Given the description of an element on the screen output the (x, y) to click on. 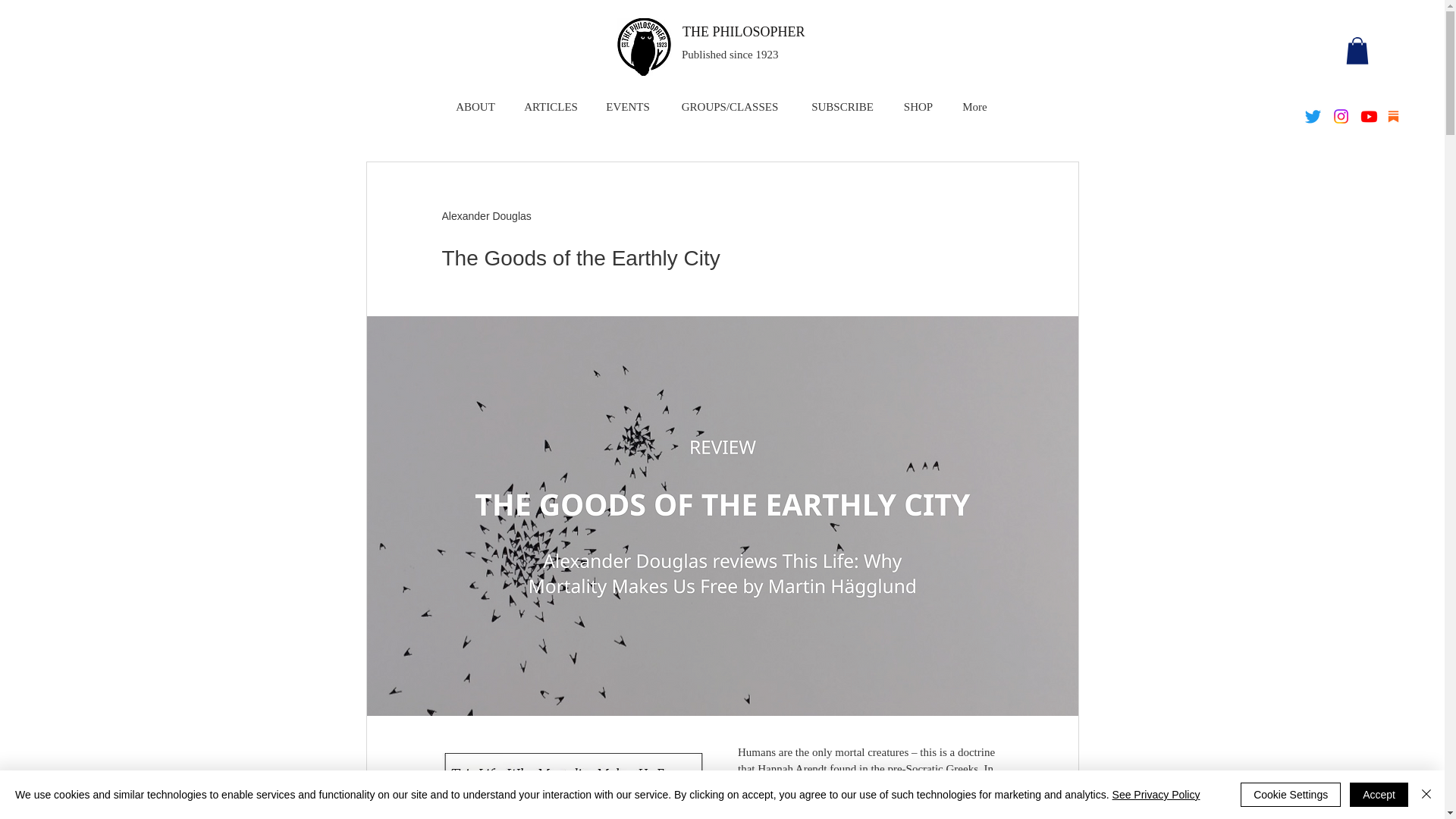
Published since 1923 (729, 54)
SHOP (917, 106)
THE PHILOSOPHER (743, 31)
EVENTS (627, 106)
ARTICLES (550, 106)
Alexander Douglas (486, 216)
SUBSCRIBE (842, 106)
ABOUT (475, 106)
Alexander Douglas (486, 216)
